Given the description of an element on the screen output the (x, y) to click on. 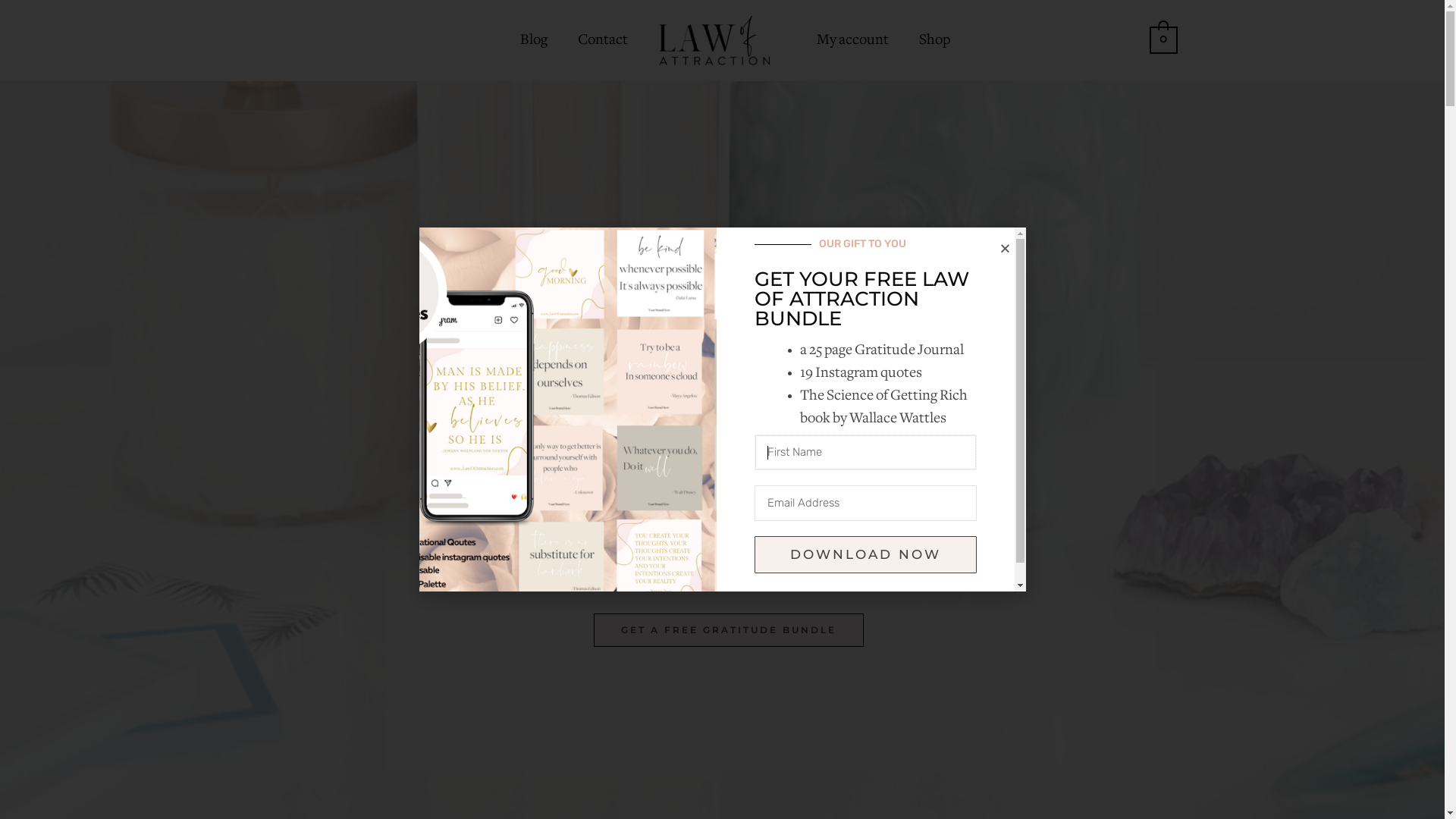
Blog Element type: text (533, 39)
DOWNLOAD NOW Element type: text (865, 554)
Contact Element type: text (602, 39)
GET A FREE GRATITUDE BUNDLE Element type: text (728, 629)
0 Element type: text (1162, 40)
Shop Element type: text (934, 39)
My account Element type: text (852, 39)
